Given the description of an element on the screen output the (x, y) to click on. 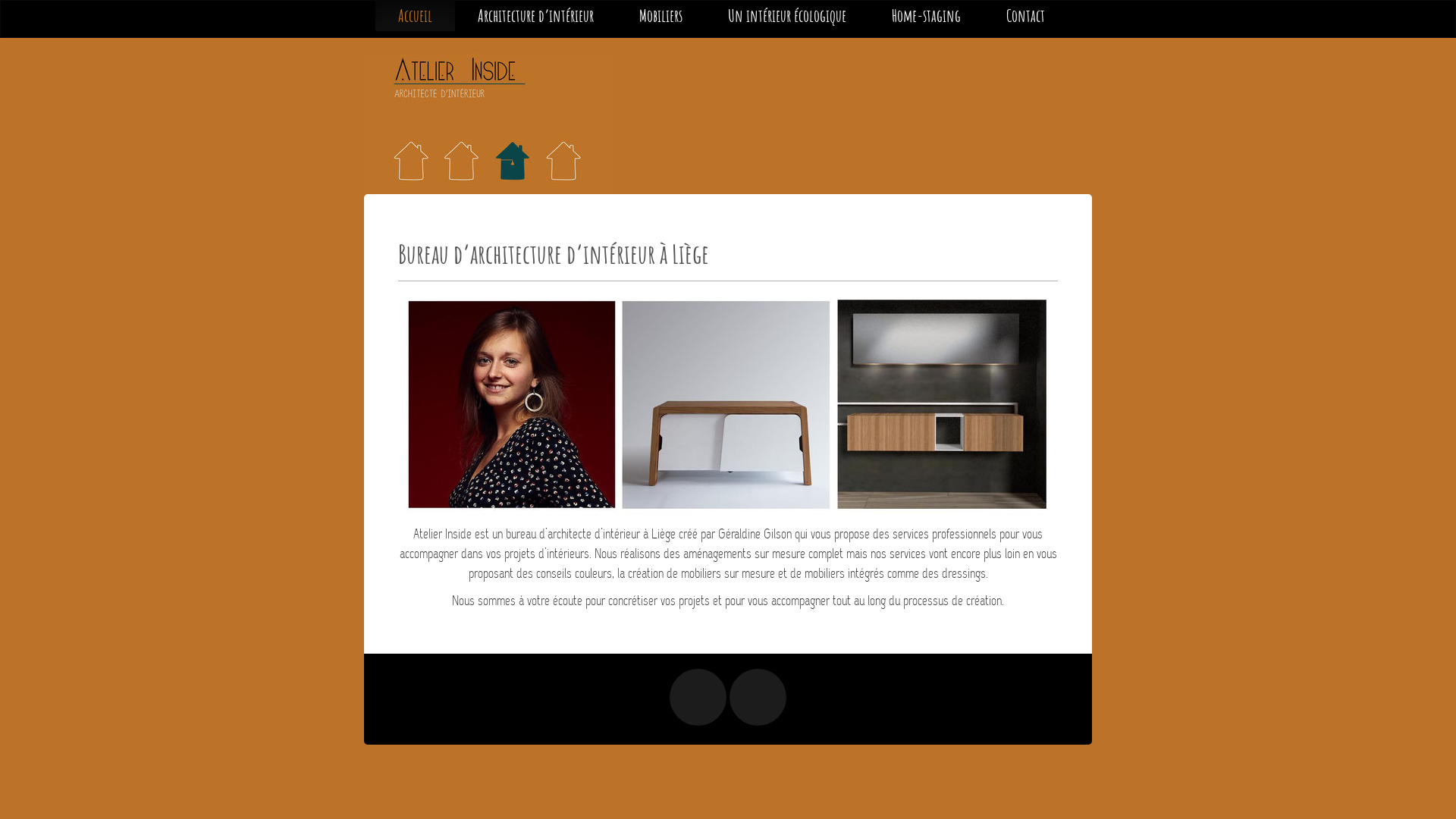
Accueil Element type: text (415, 15)
Home-staging Element type: text (926, 15)
Mobiliers Element type: text (660, 15)
Contact Element type: text (1025, 15)
